Given the description of an element on the screen output the (x, y) to click on. 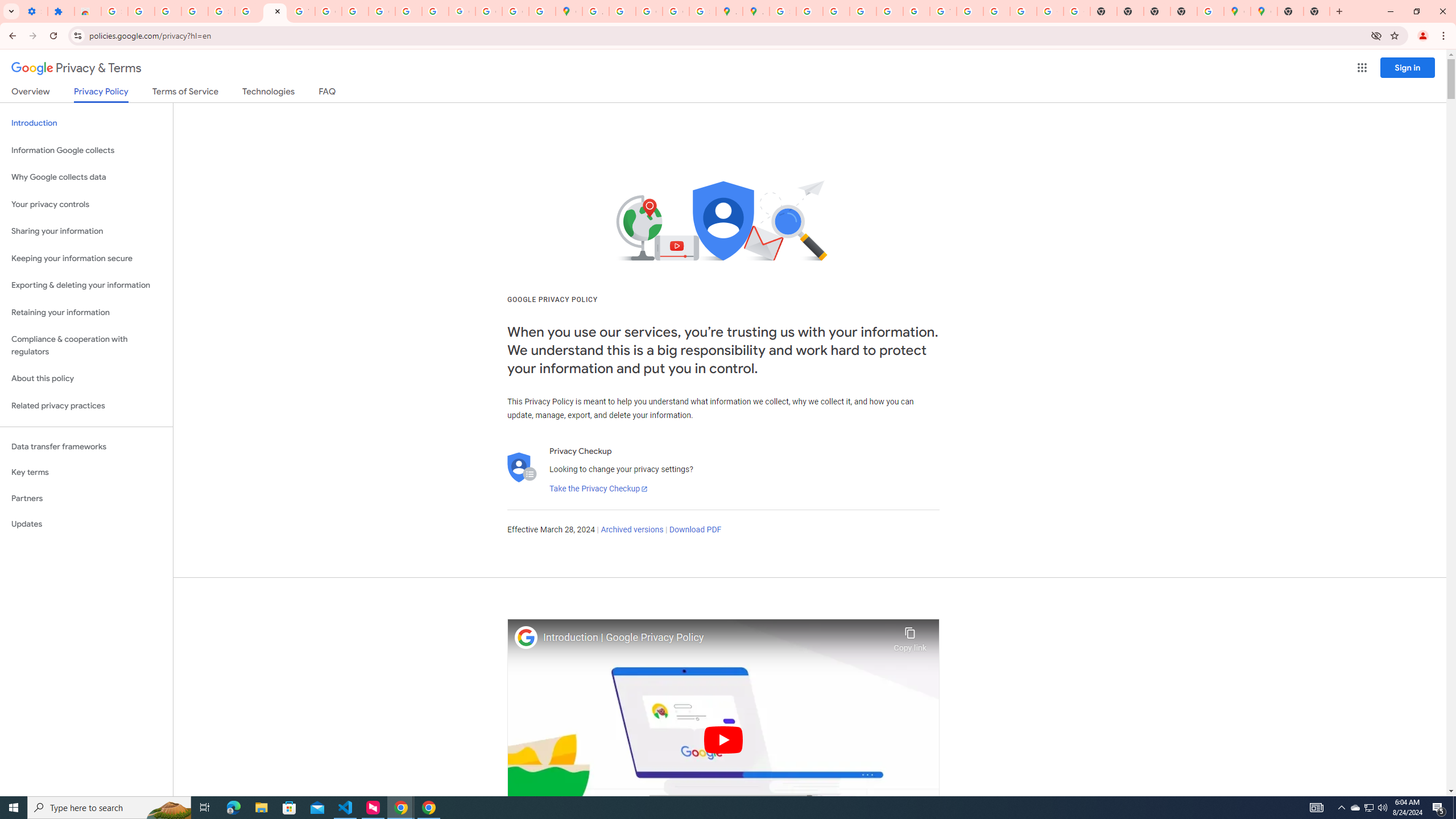
New Tab (1183, 11)
New Tab (1290, 11)
Play (723, 739)
Photo image of Google (526, 636)
Take the Privacy Checkup (597, 488)
Sign in - Google Accounts (221, 11)
Introduction | Google Privacy Policy (715, 637)
Related privacy practices (86, 405)
Google Maps (569, 11)
